Given the description of an element on the screen output the (x, y) to click on. 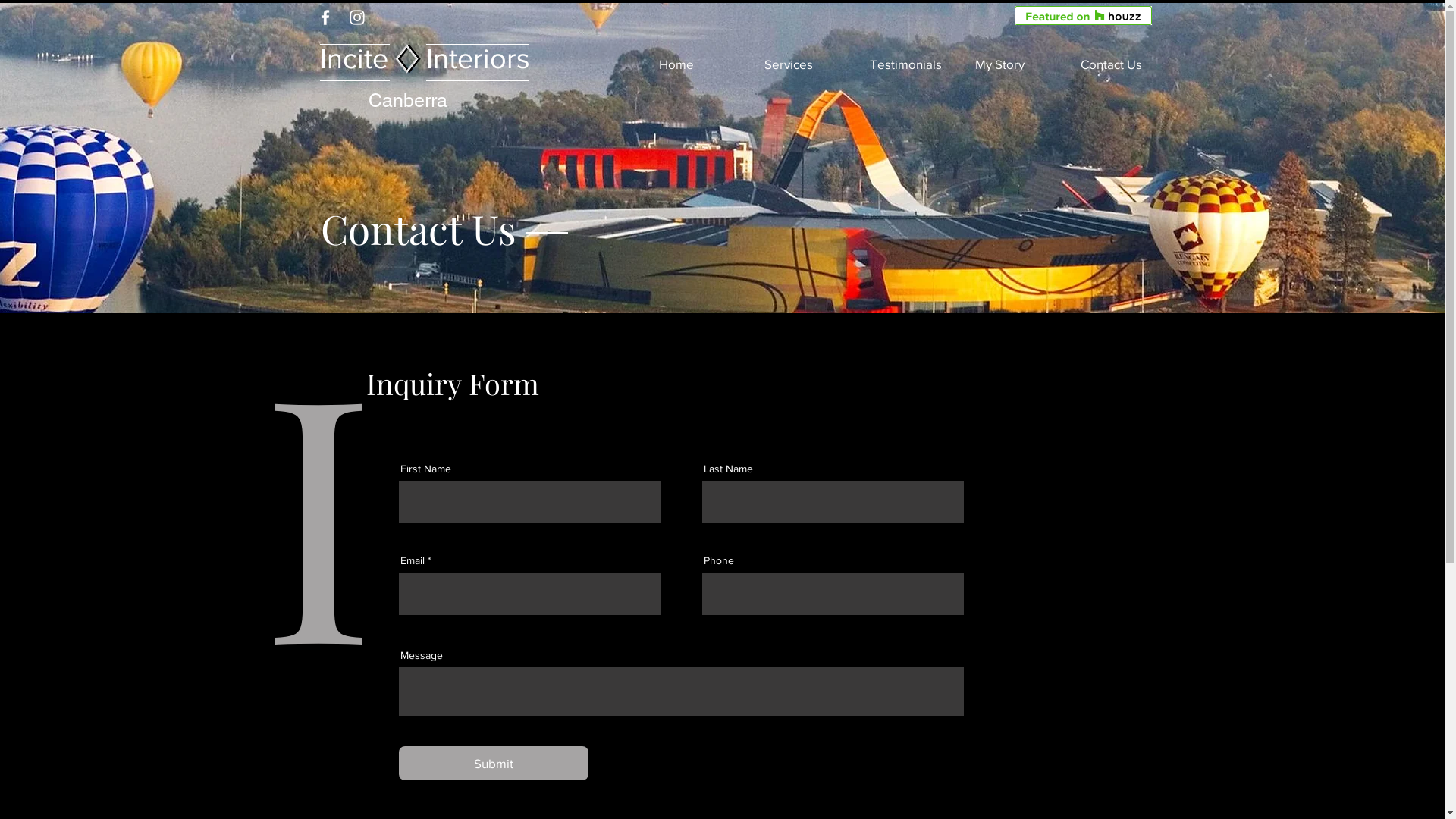
Submit Element type: text (493, 763)
Home Element type: text (703, 63)
Embedded Content Element type: hover (1082, 15)
tg_logo.png Element type: hover (407, 58)
My Story Element type: text (1020, 63)
Embedded Content Element type: hover (1019, 12)
Facebook Like Element type: hover (949, 17)
Testimonials Element type: text (913, 63)
Services Element type: text (809, 63)
Contact Us Element type: text (1124, 63)
